Given the description of an element on the screen output the (x, y) to click on. 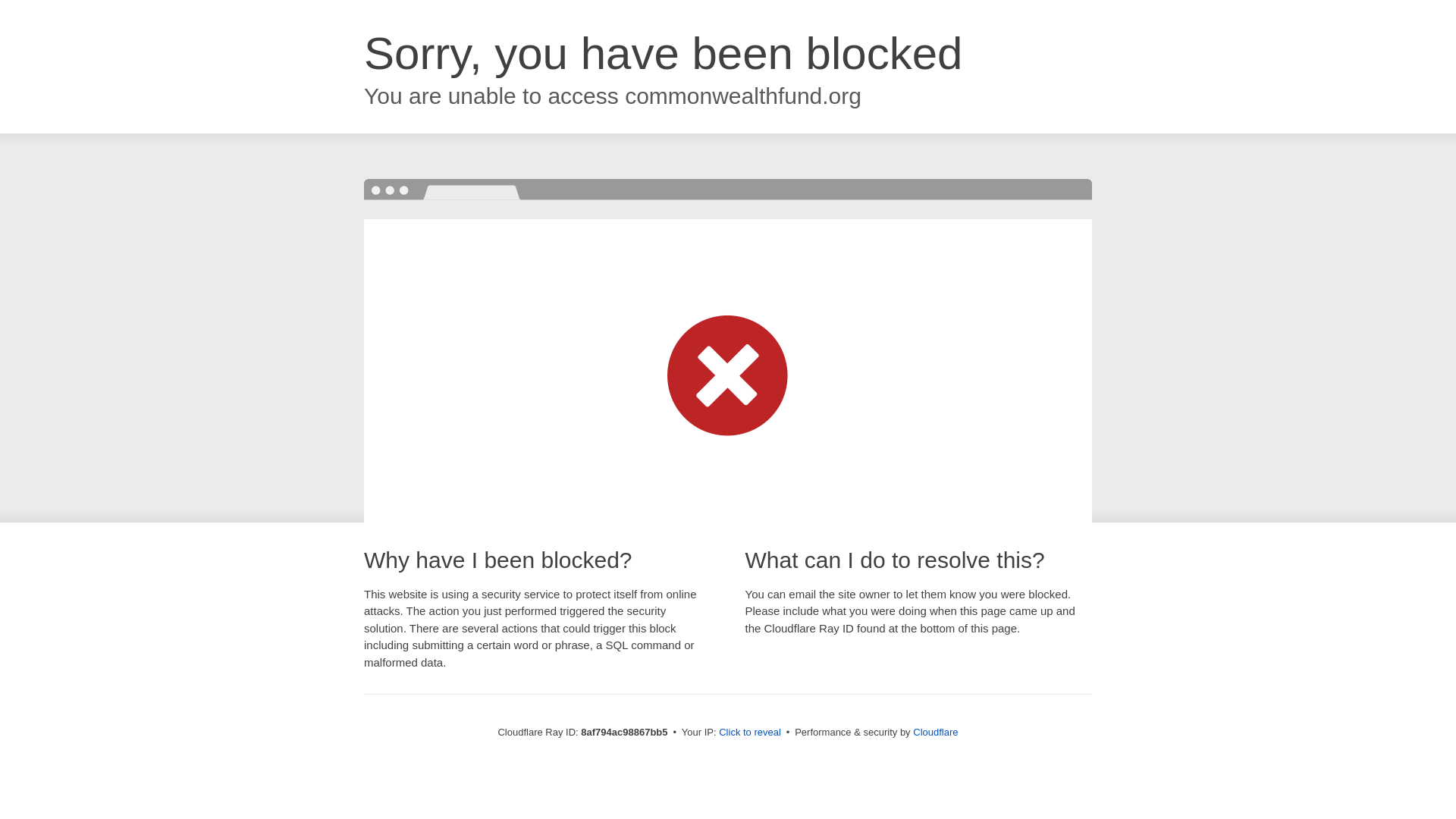
Click to reveal (749, 732)
Cloudflare (935, 731)
